Given the description of an element on the screen output the (x, y) to click on. 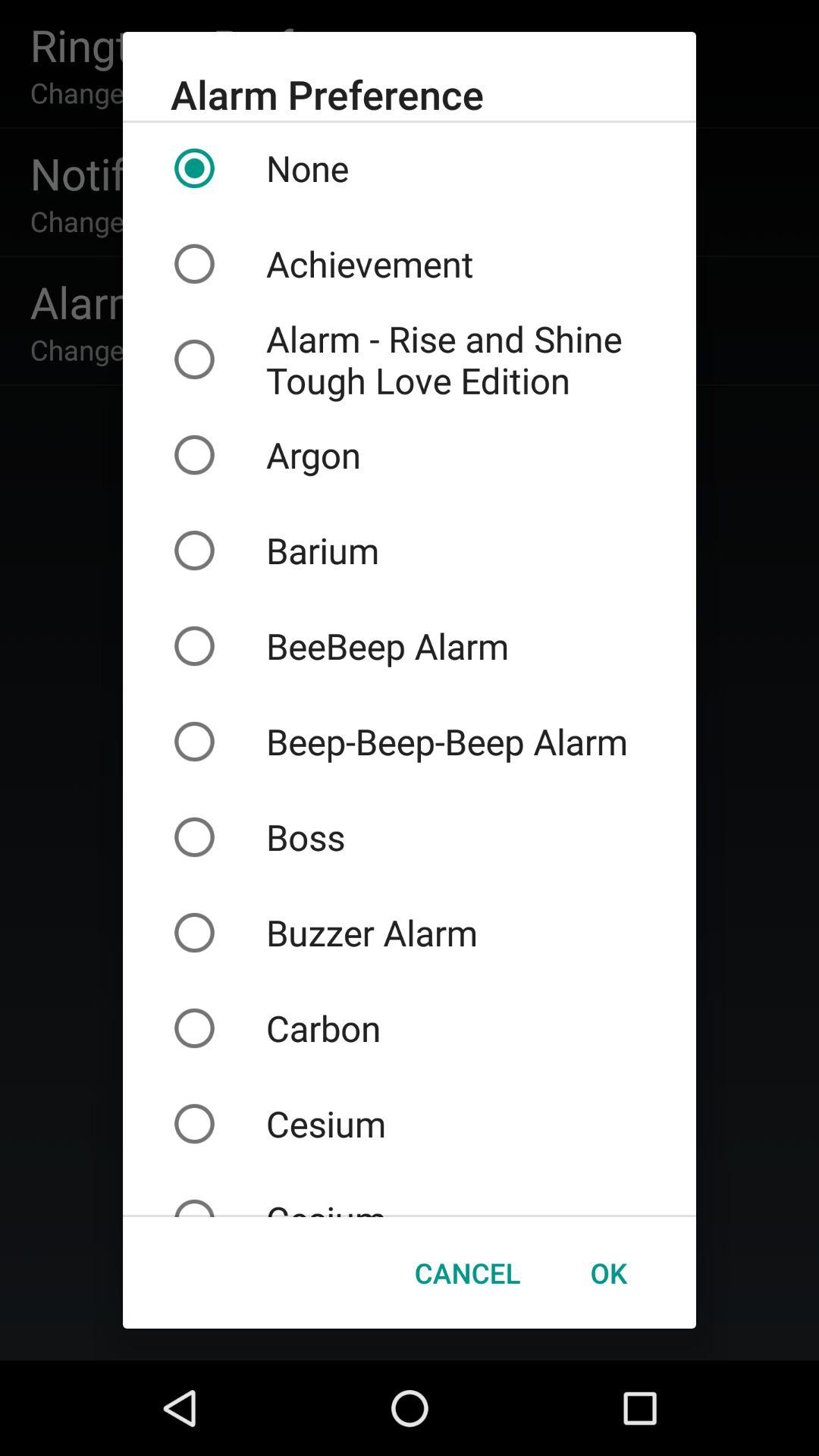
open the icon to the right of the cancel item (608, 1272)
